Given the description of an element on the screen output the (x, y) to click on. 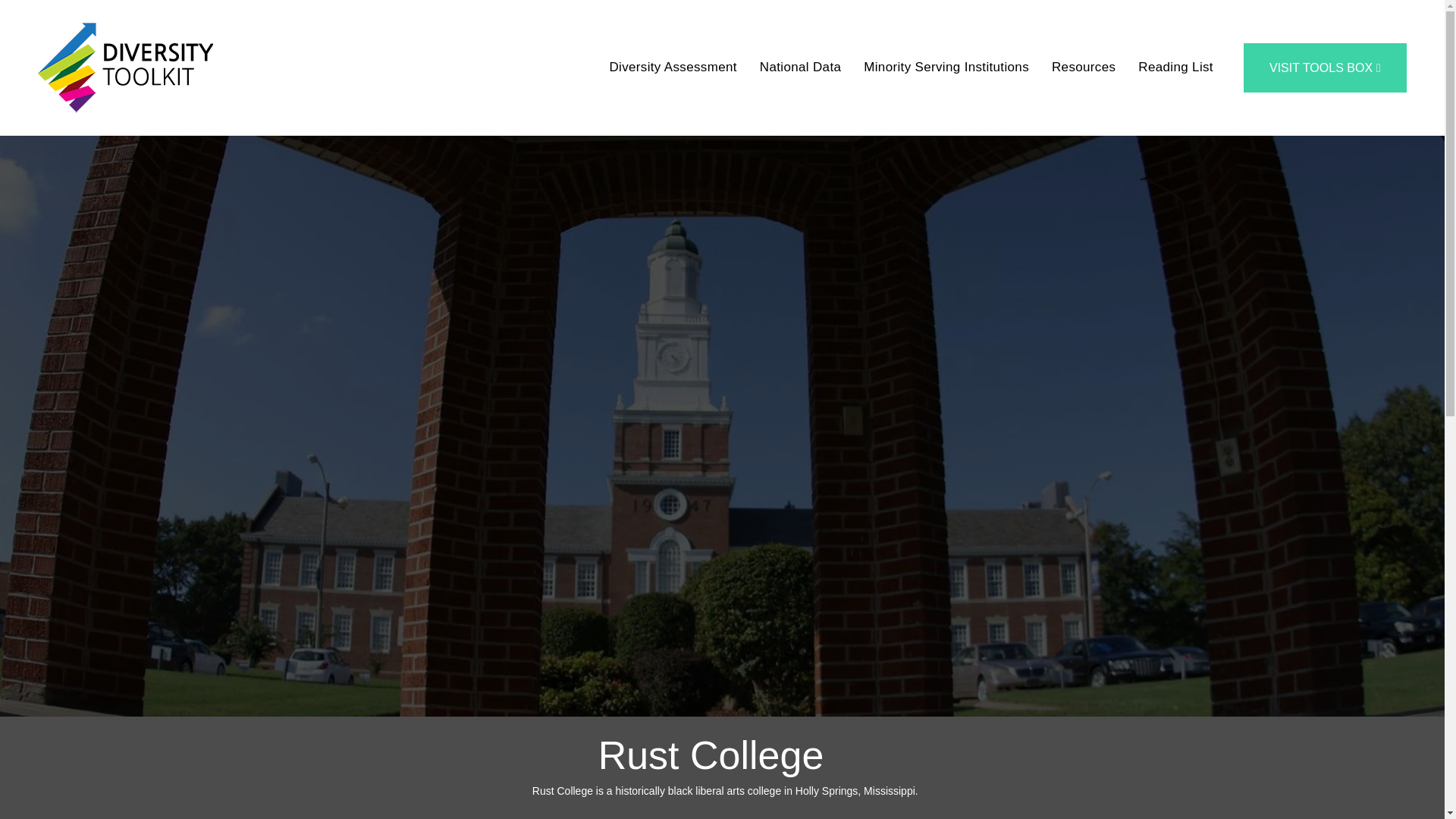
National Data (799, 67)
Diversity Assessment (672, 67)
Reading List (1175, 67)
Minority Serving Institutions (946, 67)
Resources (1083, 67)
VISIT TOOLS BOX (1324, 67)
